Given the description of an element on the screen output the (x, y) to click on. 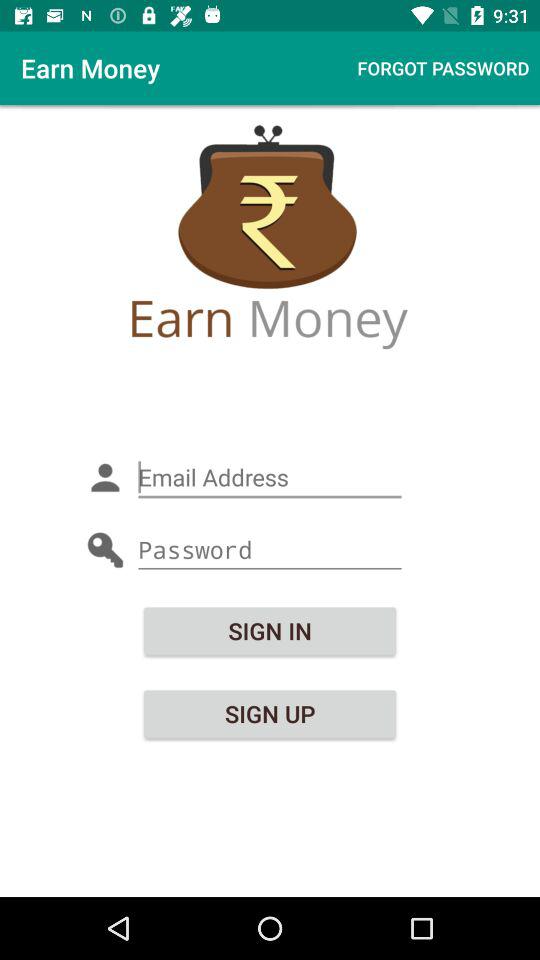
enter password (269, 549)
